Given the description of an element on the screen output the (x, y) to click on. 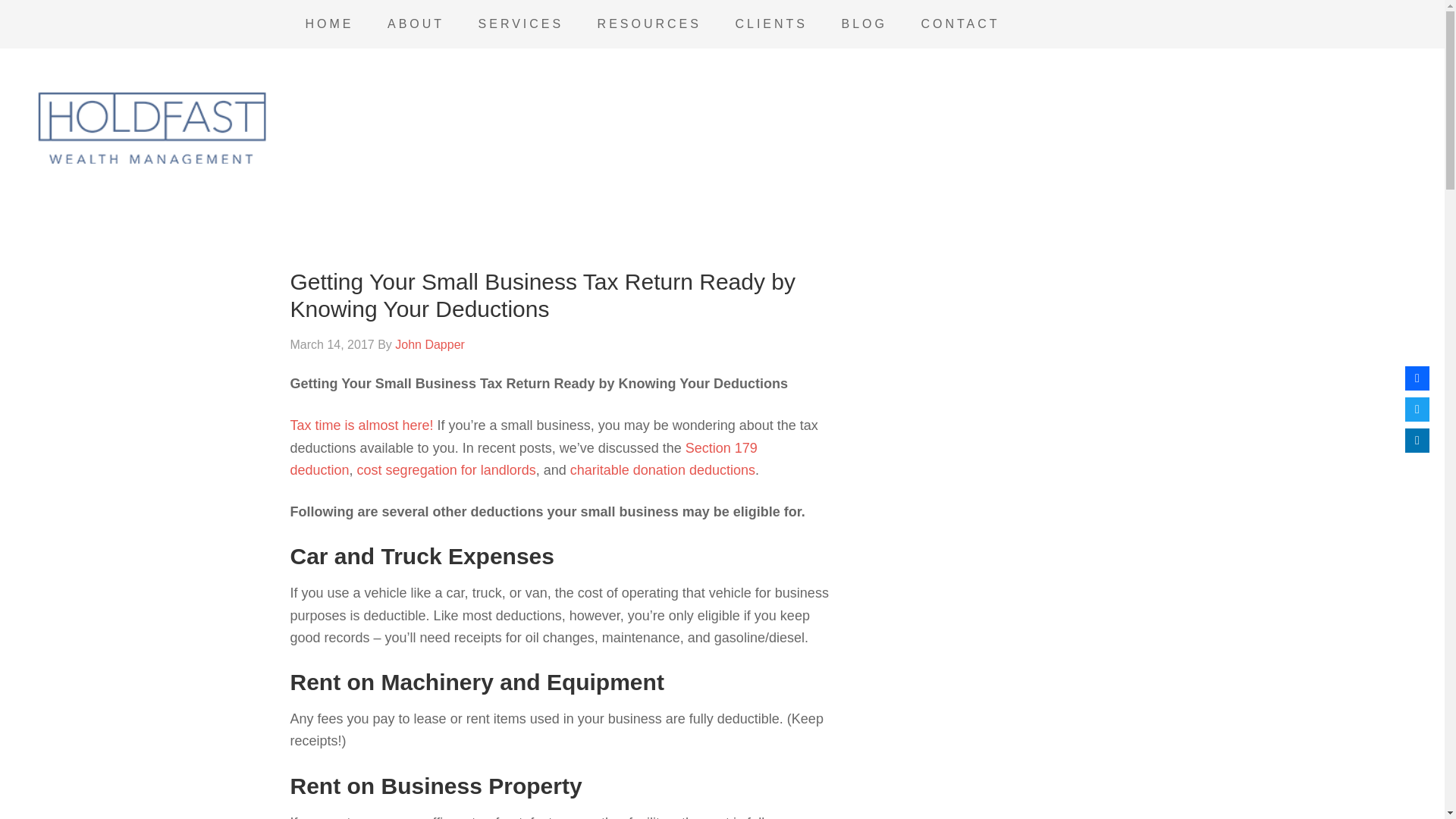
CONTACT (959, 24)
ABOUT (416, 24)
LinkedIn (1417, 440)
cost segregation for landlords (445, 469)
RESOURCES (649, 24)
CLIENTS (770, 24)
HOME (328, 24)
Twitter (1417, 409)
Tax time is almost here! (360, 425)
Facebook (1417, 378)
